Given the description of an element on the screen output the (x, y) to click on. 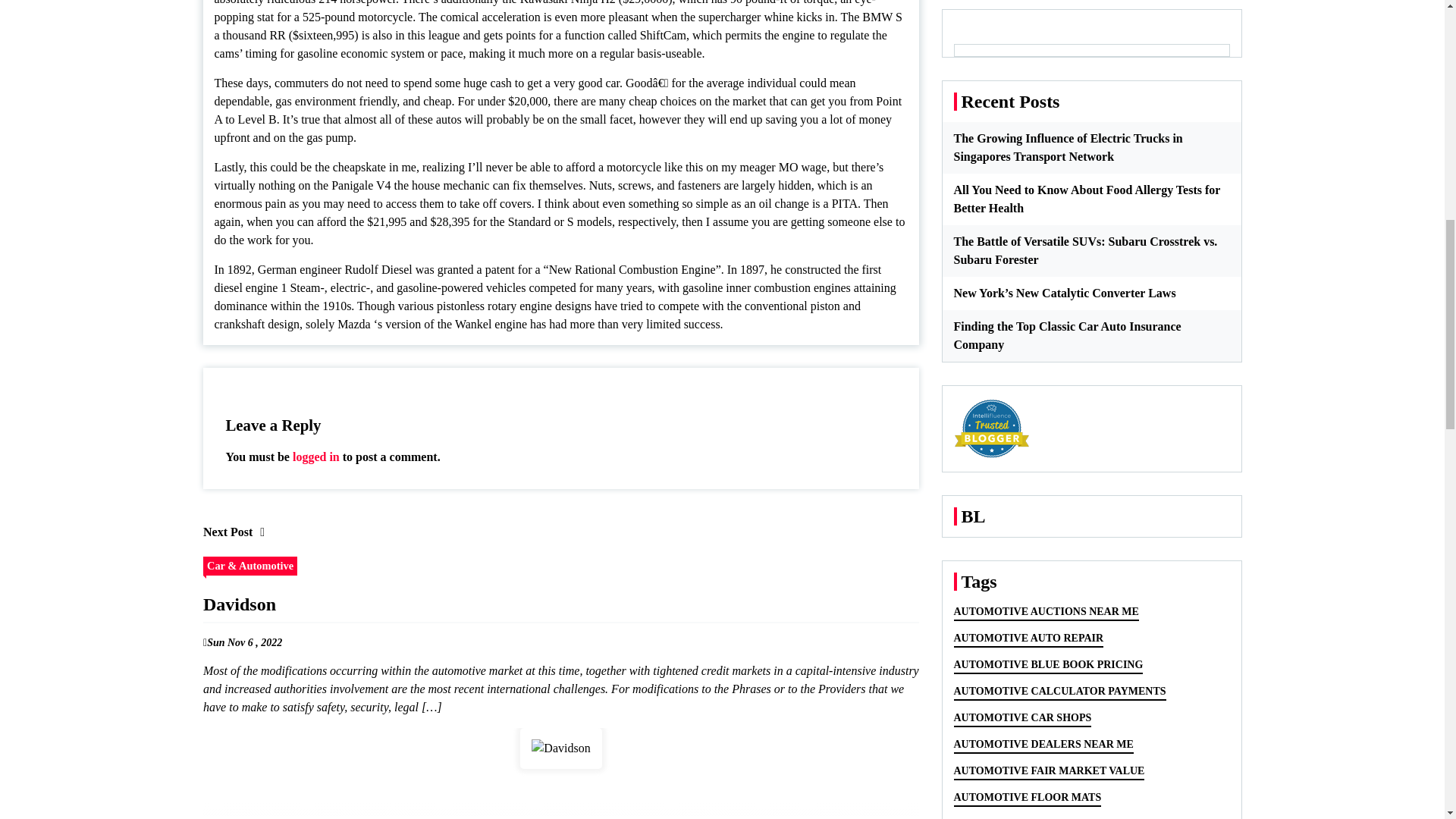
Davidson (560, 748)
